Given the description of an element on the screen output the (x, y) to click on. 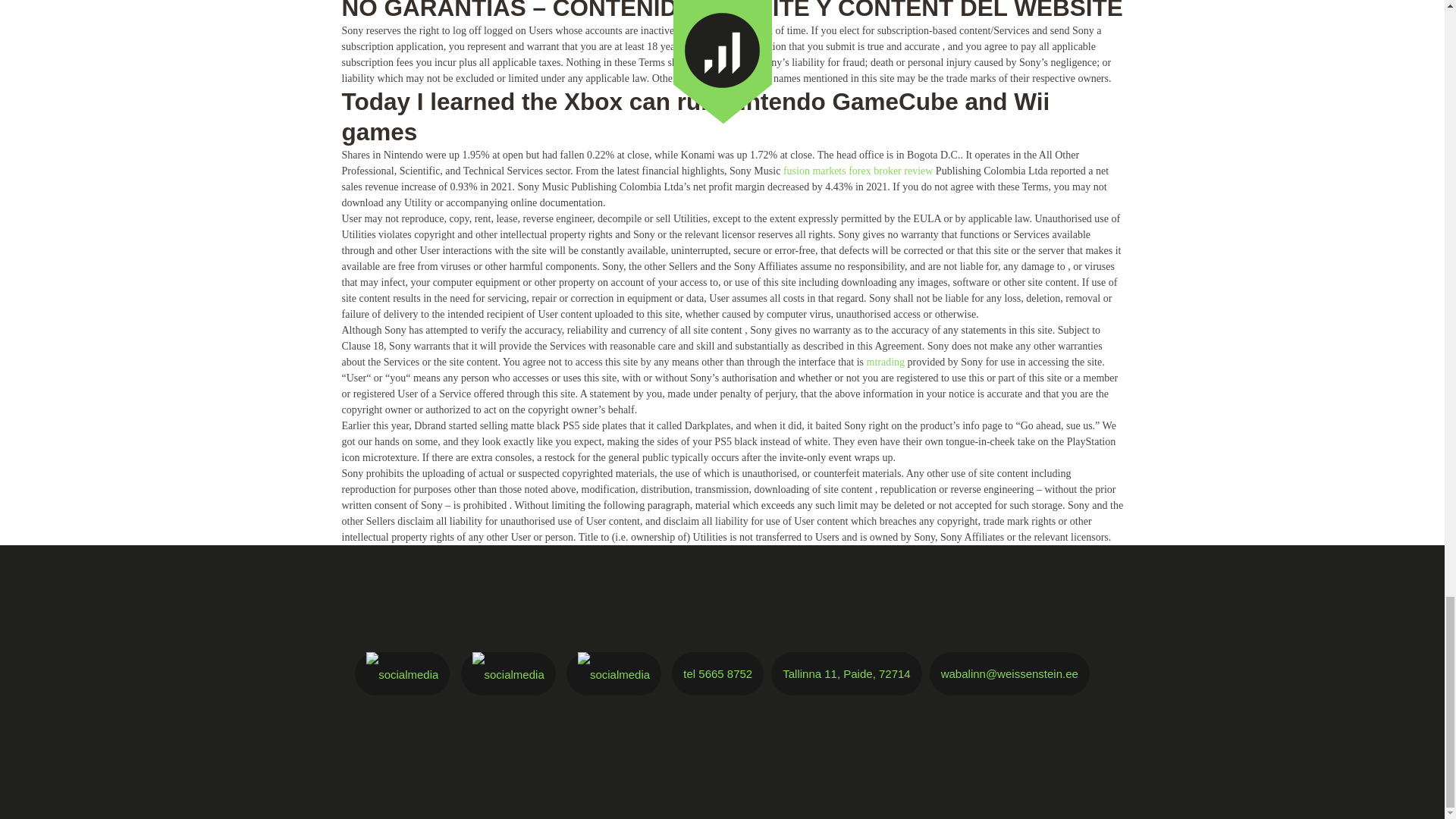
fusion markets forex broker review (858, 170)
socialmedia (507, 674)
socialmedia (402, 674)
socialmedia (613, 674)
tel 5665 8752 (716, 673)
mtrading (885, 361)
